Given the description of an element on the screen output the (x, y) to click on. 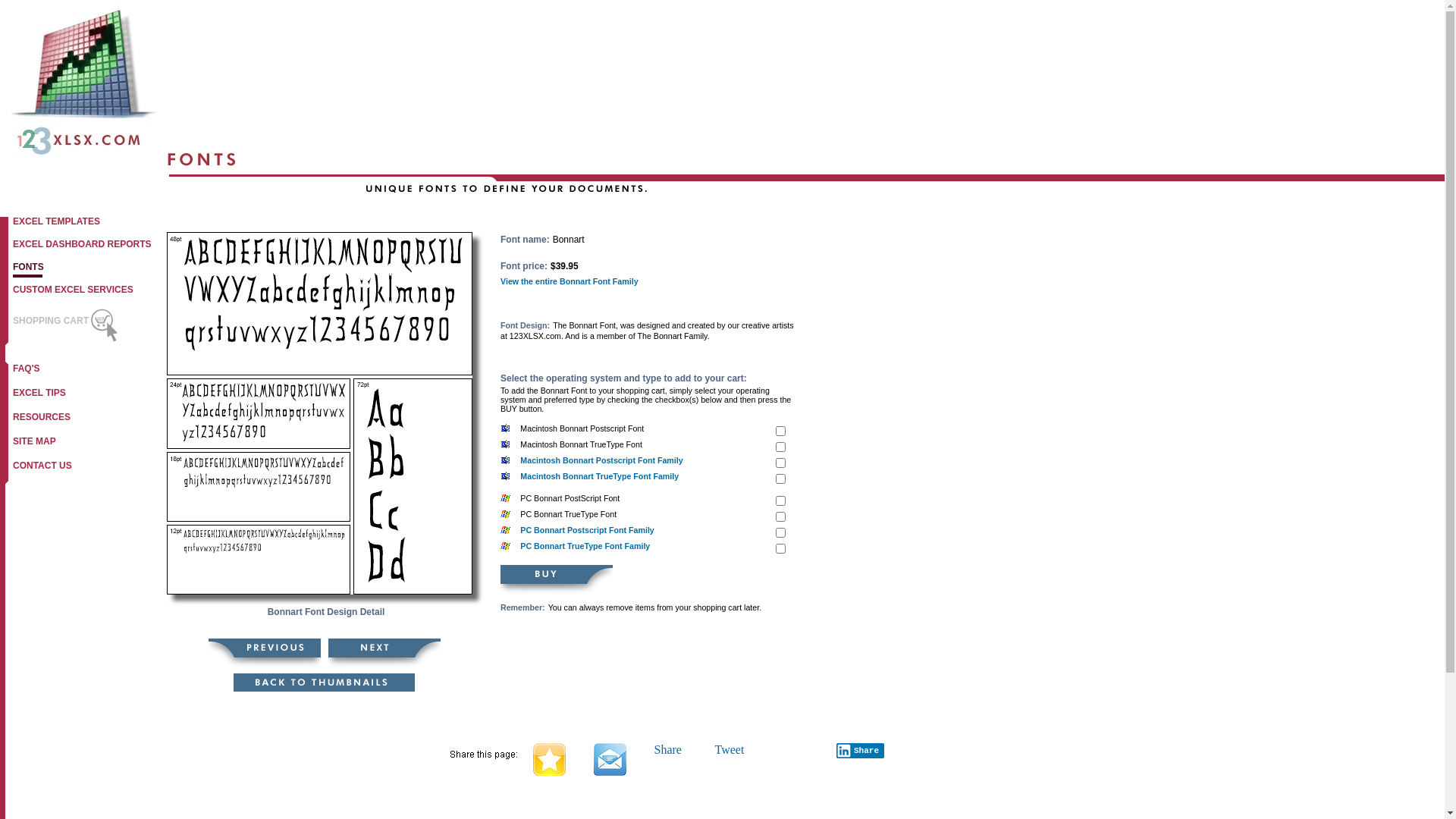
PC Bonnart Postscript Font Family Element type: text (586, 529)
EXCEL TEMPLATES Element type: text (54, 224)
FONTS Element type: text (27, 269)
View the entire Bonnart Font Family Element type: text (569, 280)
PC Postscript Element type: text (780, 500)
Macintosh Bonnart TrueType Font Family Element type: text (599, 475)
Share Element type: text (666, 749)
MAC Truetype Element type: text (780, 446)
FAQ'S Element type: text (26, 371)
= Element type: hover (548, 771)
PC Truetype Family Element type: text (780, 548)
CUSTOM EXCEL SERVICES Element type: text (70, 292)
Your Shopping Cart Is Empty Element type: hover (102, 324)
RESOURCES Element type: text (40, 419)
PC Bonnart TrueType Font Family Element type: text (584, 545)
MAC Postscript Element type: text (780, 431)
EXCEL TIPS Element type: text (38, 395)
Tweet Element type: text (728, 749)
Macintosh Bonnart Postscript Font Family Element type: text (601, 459)
Email this page to a friend or colleague Element type: hover (609, 771)
CONTACT US Element type: text (41, 468)
Share Element type: text (859, 750)
SITE MAP Element type: text (33, 443)
EXCEL DASHBOARD REPORTS Element type: text (78, 246)
PC Postscript Family Element type: text (780, 532)
PC Truetype Element type: text (780, 516)
MAC Truetype Family Element type: text (780, 478)
MAC Postscript Family Element type: text (780, 462)
